Given the description of an element on the screen output the (x, y) to click on. 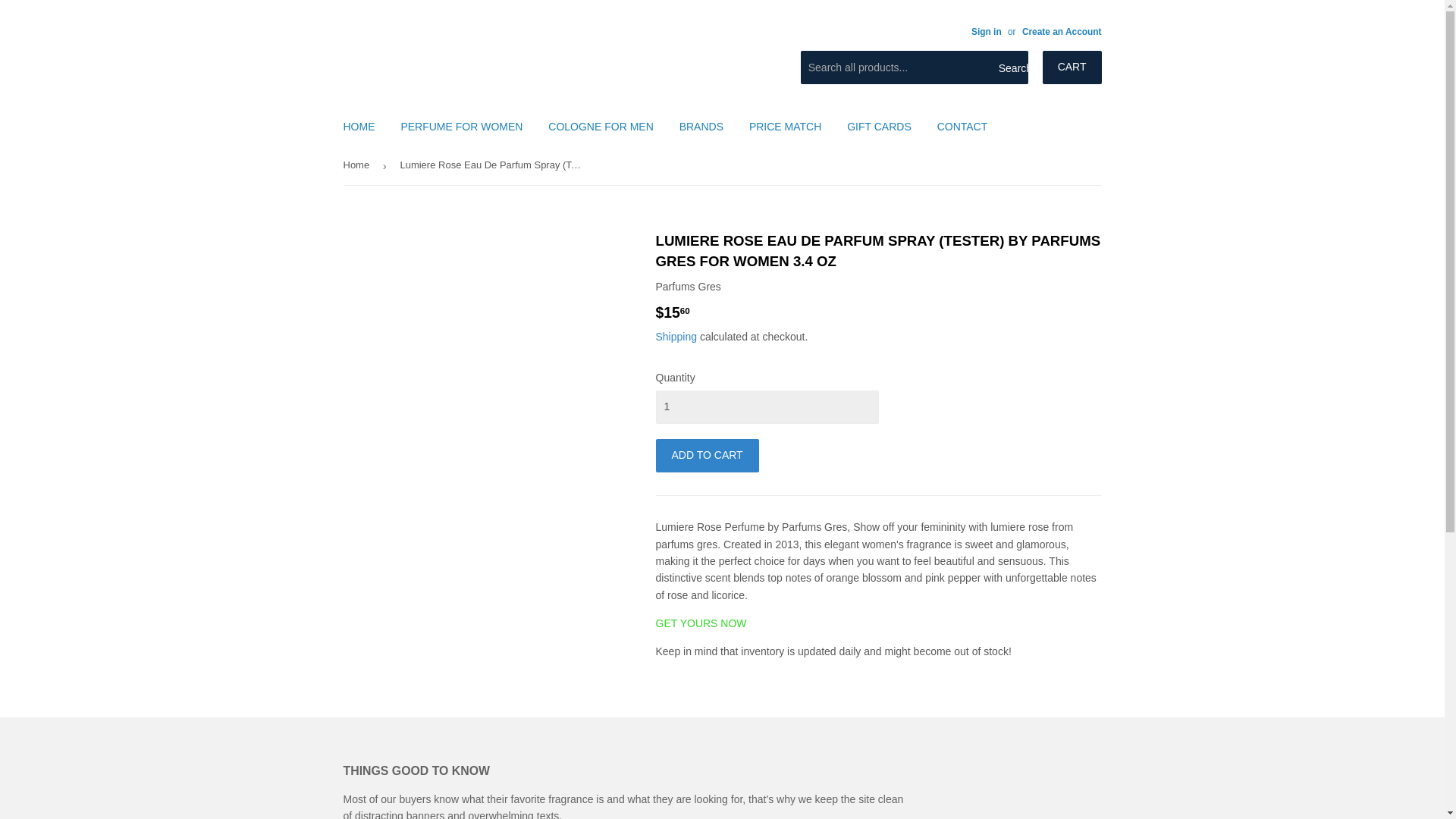
Search (1010, 68)
1 (766, 407)
CART (1072, 67)
Create an Account (1062, 31)
Sign in (986, 31)
